Given the description of an element on the screen output the (x, y) to click on. 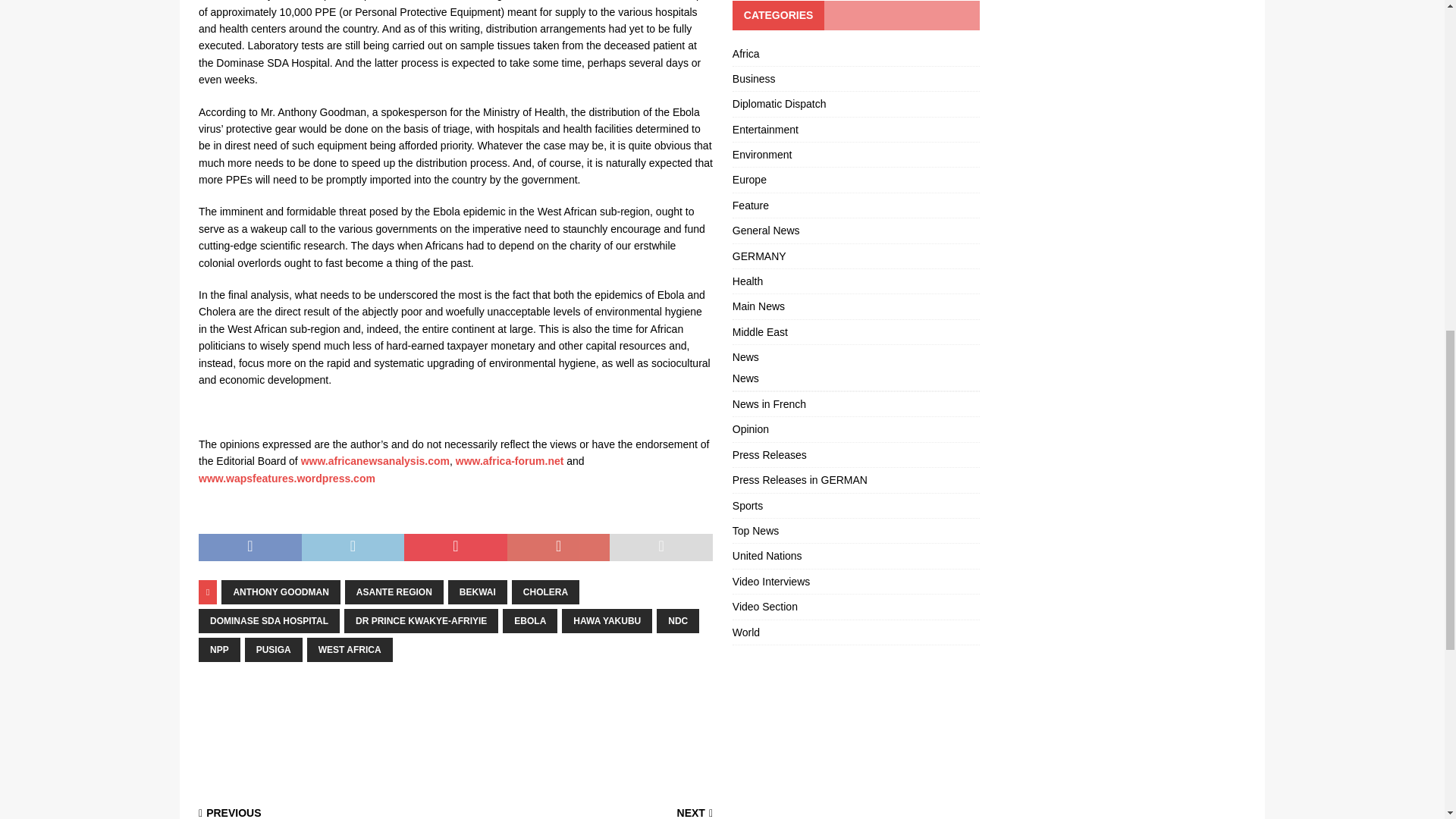
BEKWAI (477, 591)
ANTHONY GOODMAN (280, 591)
www.wapsfeatures.wordpress.com (286, 478)
www.africa-forum.net (509, 460)
ASANTE REGION (394, 591)
www.africanewsanalysis.com (375, 460)
